Given the description of an element on the screen output the (x, y) to click on. 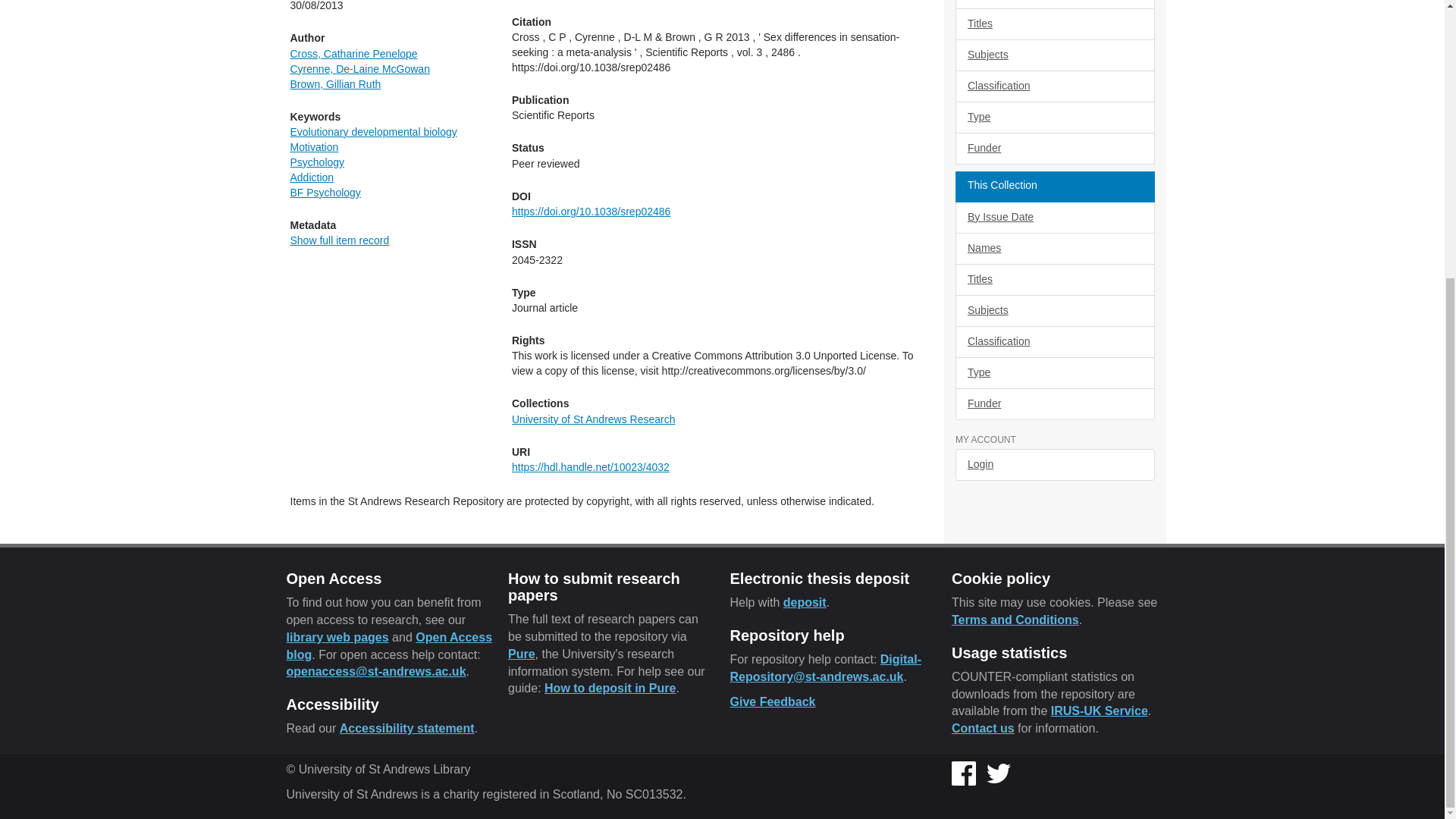
Titles (1054, 24)
Motivation (313, 146)
Cyrenne, De-Laine McGowan (359, 69)
Brown, Gillian Ruth (334, 83)
BF Psychology (324, 192)
Email address for St Andrews Research Repository (825, 667)
Show full item record (338, 240)
Open Access Blog (389, 645)
IRUS-UK Service (1099, 710)
Names (1054, 4)
